Given the description of an element on the screen output the (x, y) to click on. 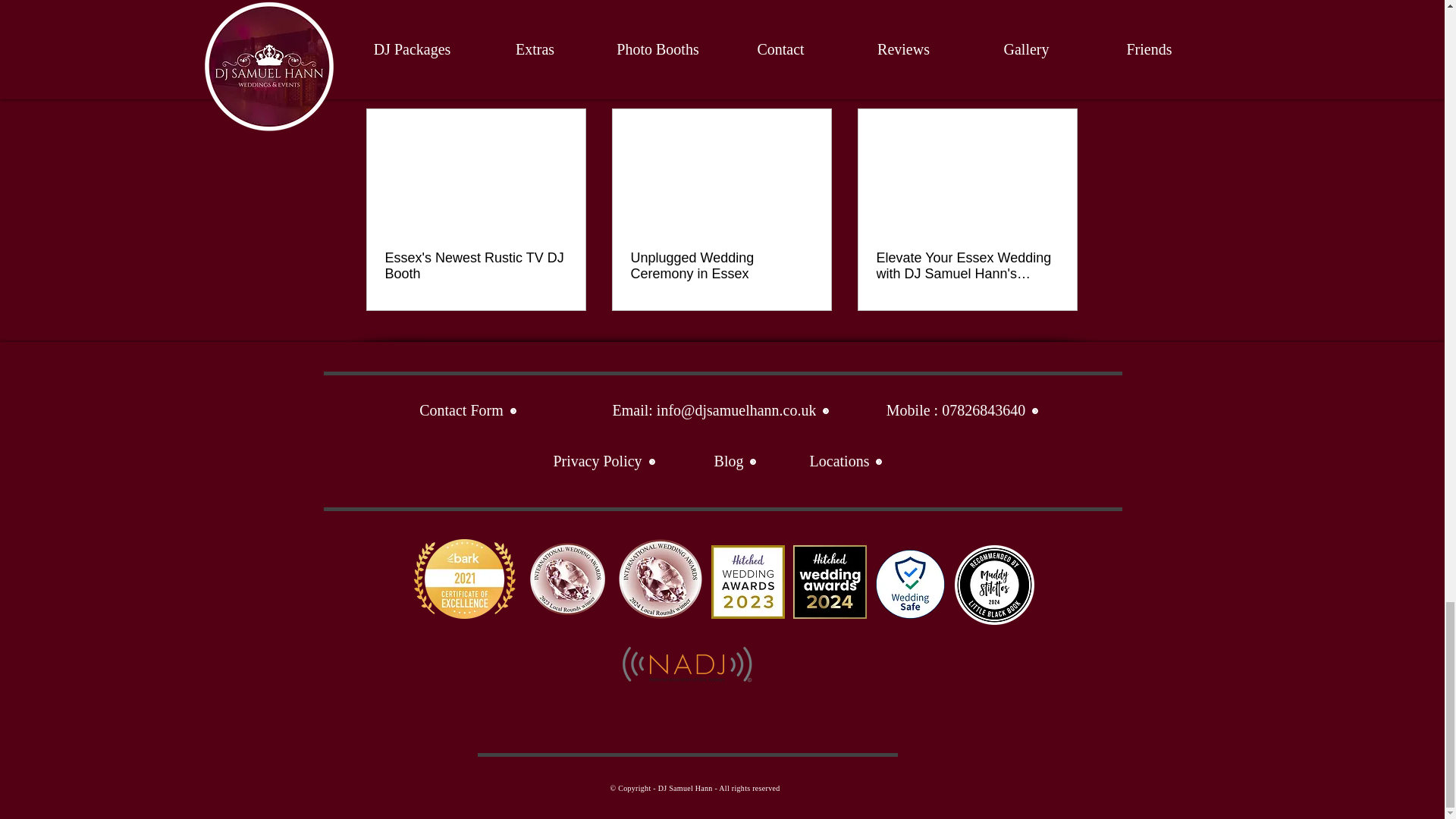
Privacy Policy (604, 461)
Blog (734, 461)
See All (1061, 82)
Mobile : 07826843640 (962, 410)
2023-Local-Rounds-winner.png (567, 578)
weddng safe (909, 584)
2023-Local-Rounds-winner.png (464, 578)
Unplugged Wedding Ceremony in Essex (721, 265)
Essex's Newest Rustic TV DJ Booth (476, 265)
Locations (846, 461)
2023-Local-Rounds-winner.png (659, 578)
Contact Form (468, 410)
2023-Local-Rounds-winner.png (747, 582)
2023-Local-Rounds-winner.png (829, 582)
